Given the description of an element on the screen output the (x, y) to click on. 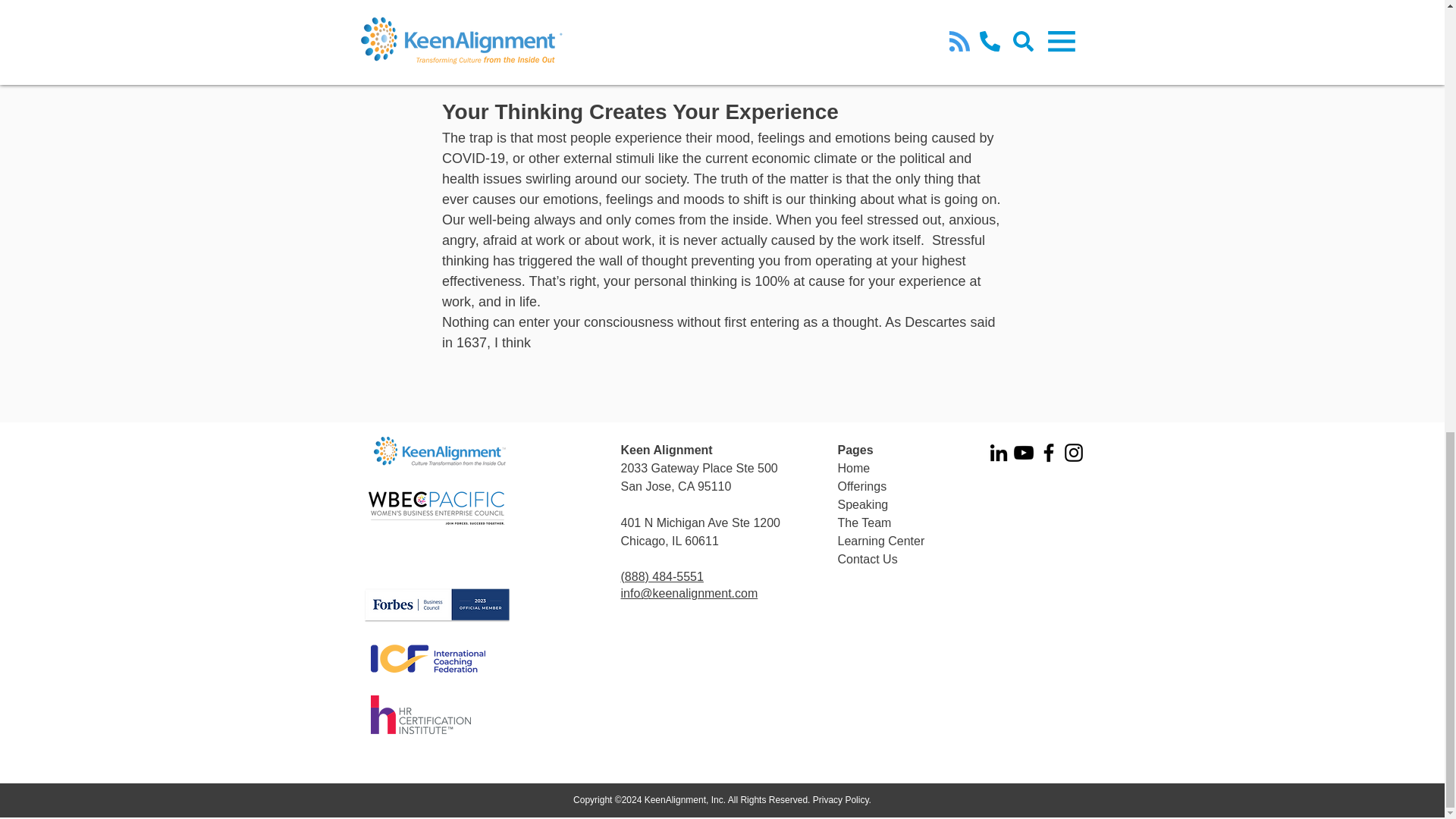
The Team (864, 522)
FBC-Signature.png (437, 605)
Contact Us (866, 558)
Offerings (861, 486)
Speaking (862, 504)
Learning Center (880, 540)
Home (853, 468)
